Given the description of an element on the screen output the (x, y) to click on. 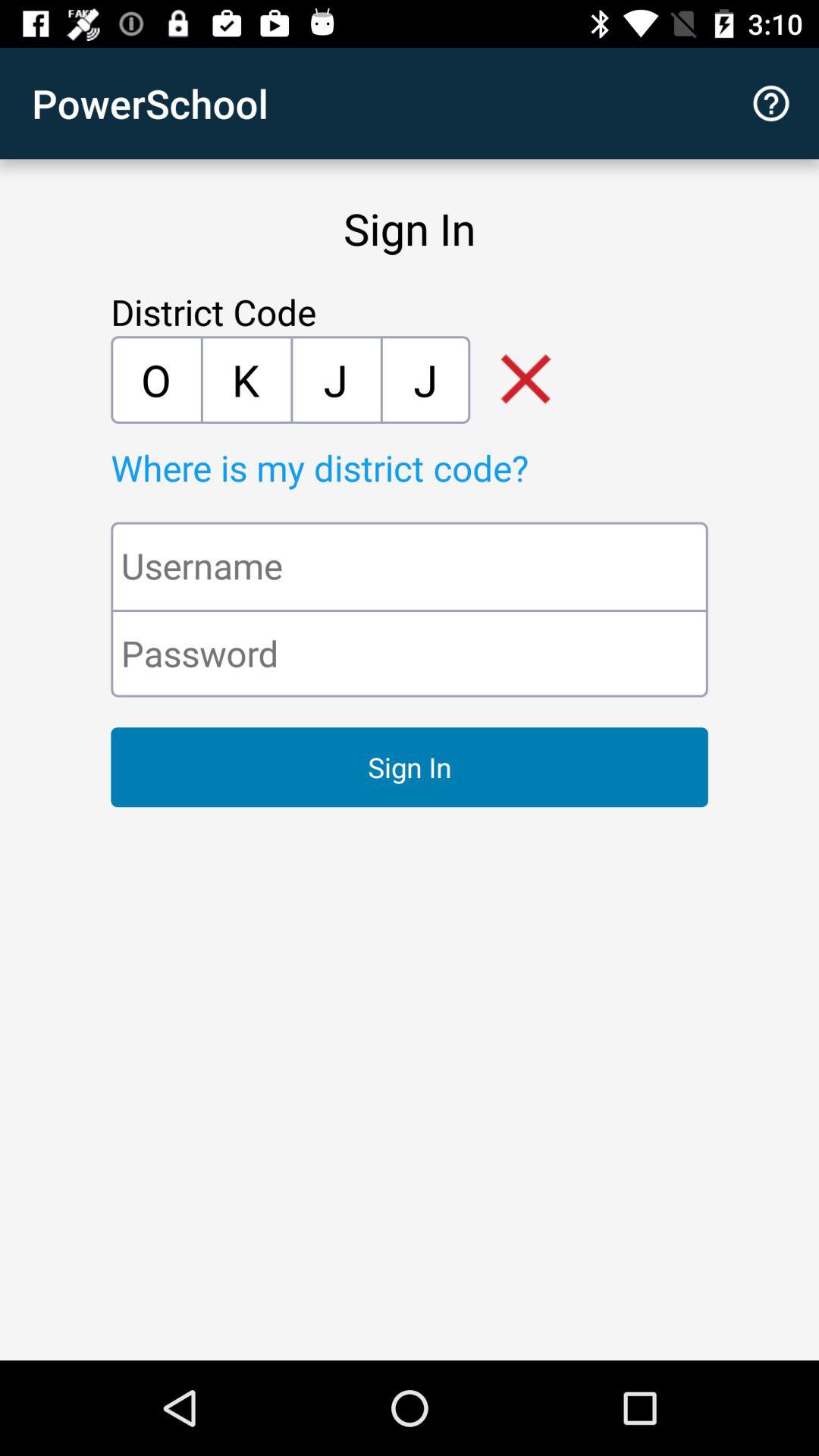
click item next to the o (245, 379)
